Given the description of an element on the screen output the (x, y) to click on. 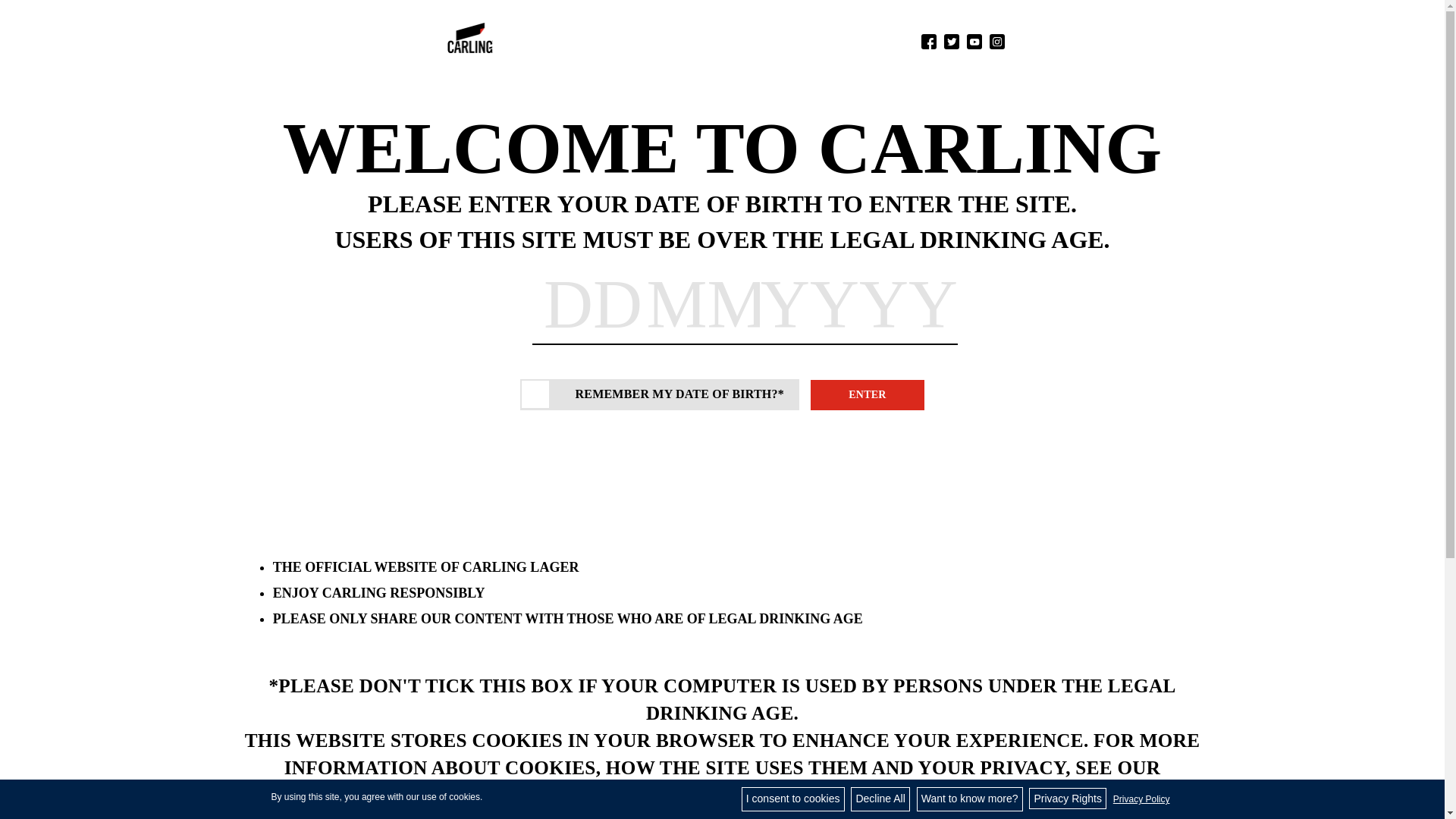
Want to know more? (970, 799)
Decline All (879, 799)
1 (539, 393)
I consent to cookies (792, 799)
Enter (867, 395)
Enter (867, 395)
Privacy Policy (1141, 799)
Privacy Rights (1067, 798)
